Given the description of an element on the screen output the (x, y) to click on. 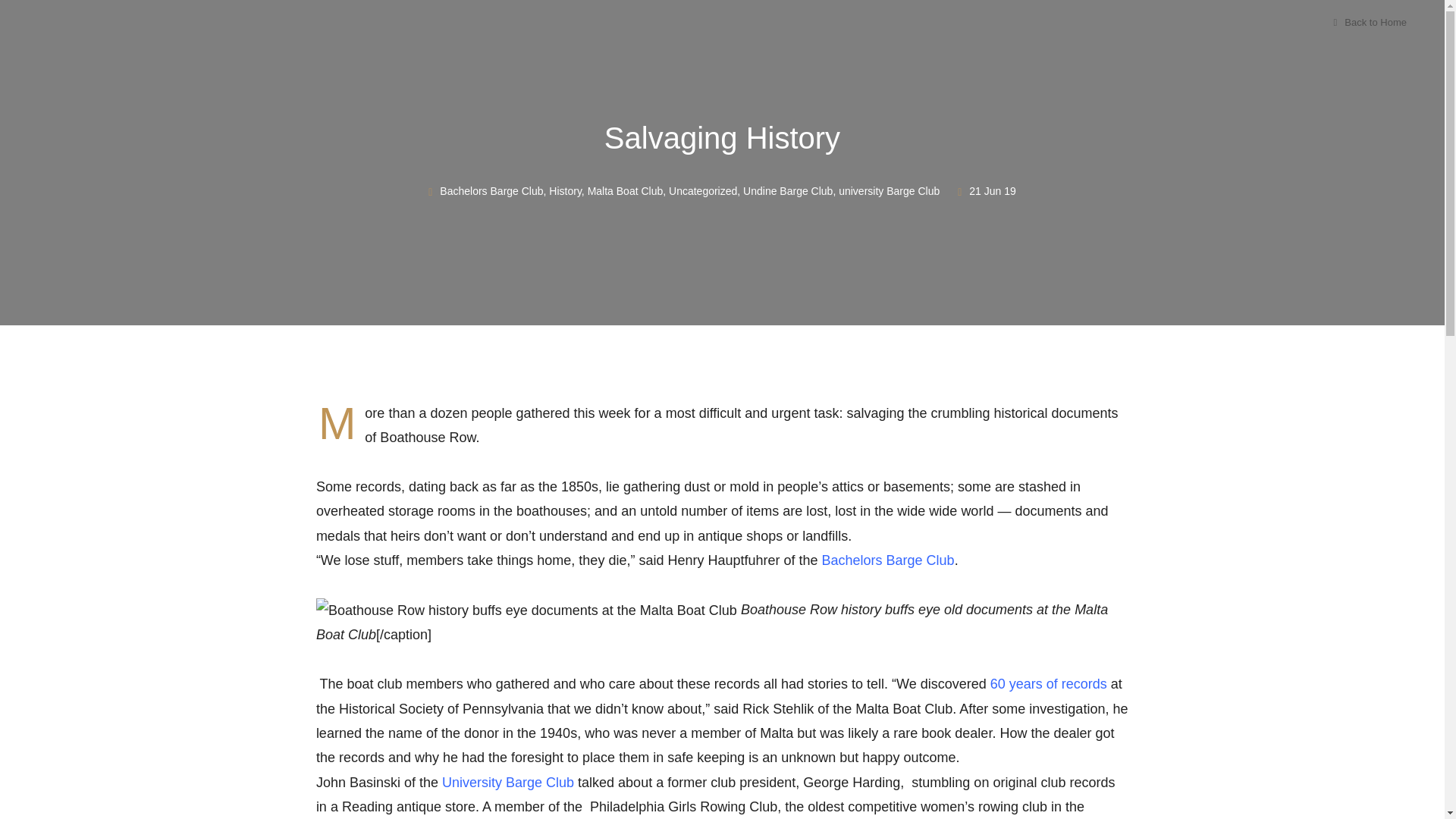
university Barge Club (888, 191)
Back to Home (1369, 21)
Bachelors Barge Club (888, 560)
Uncategorized (702, 191)
21 Jun 19 (992, 191)
History (564, 191)
Undine Barge Club (787, 191)
University Barge Club (507, 782)
Malta Boat Club (625, 191)
60 years of records (1048, 683)
